Given the description of an element on the screen output the (x, y) to click on. 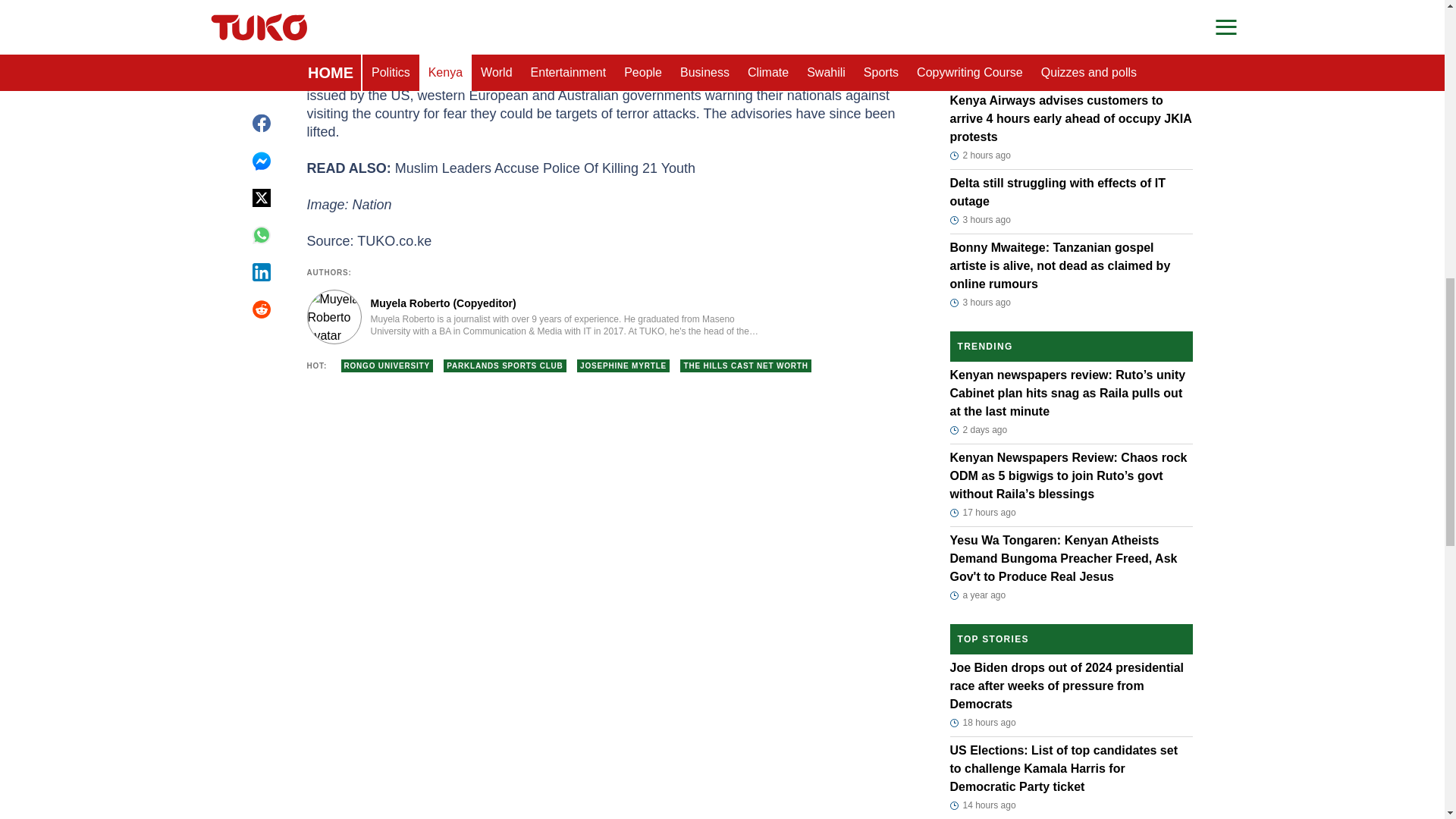
Author page (533, 316)
